Given the description of an element on the screen output the (x, y) to click on. 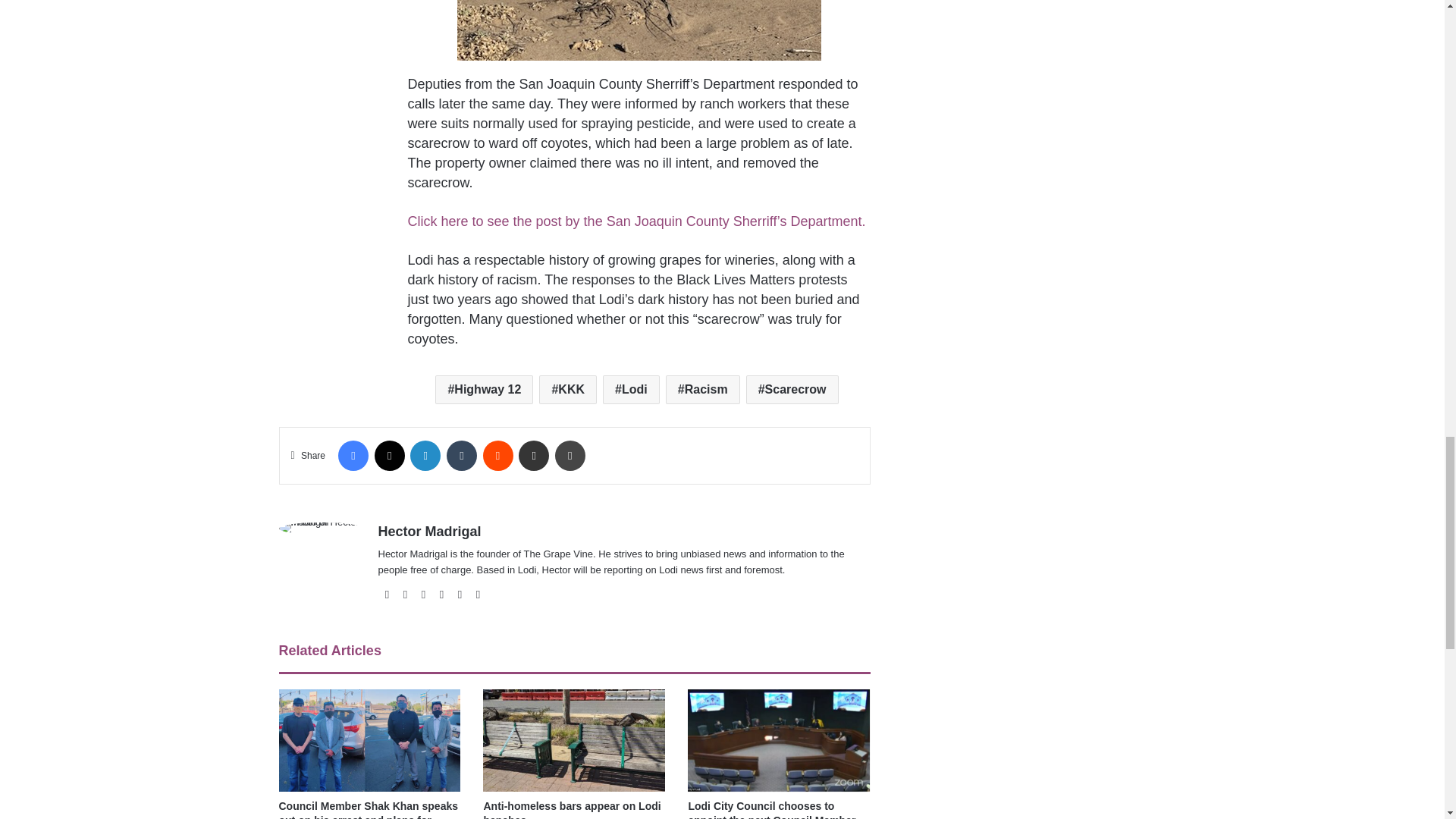
Reddit (496, 455)
Share via Email (533, 455)
Scarecrow (791, 389)
Facebook (352, 455)
Tumblr (461, 455)
Tumblr (461, 455)
Share via Email (533, 455)
Highway 12 (483, 389)
X (389, 455)
LinkedIn (425, 455)
KKK (567, 389)
Lodi (630, 389)
Racism (702, 389)
Reddit (496, 455)
LinkedIn (425, 455)
